Given the description of an element on the screen output the (x, y) to click on. 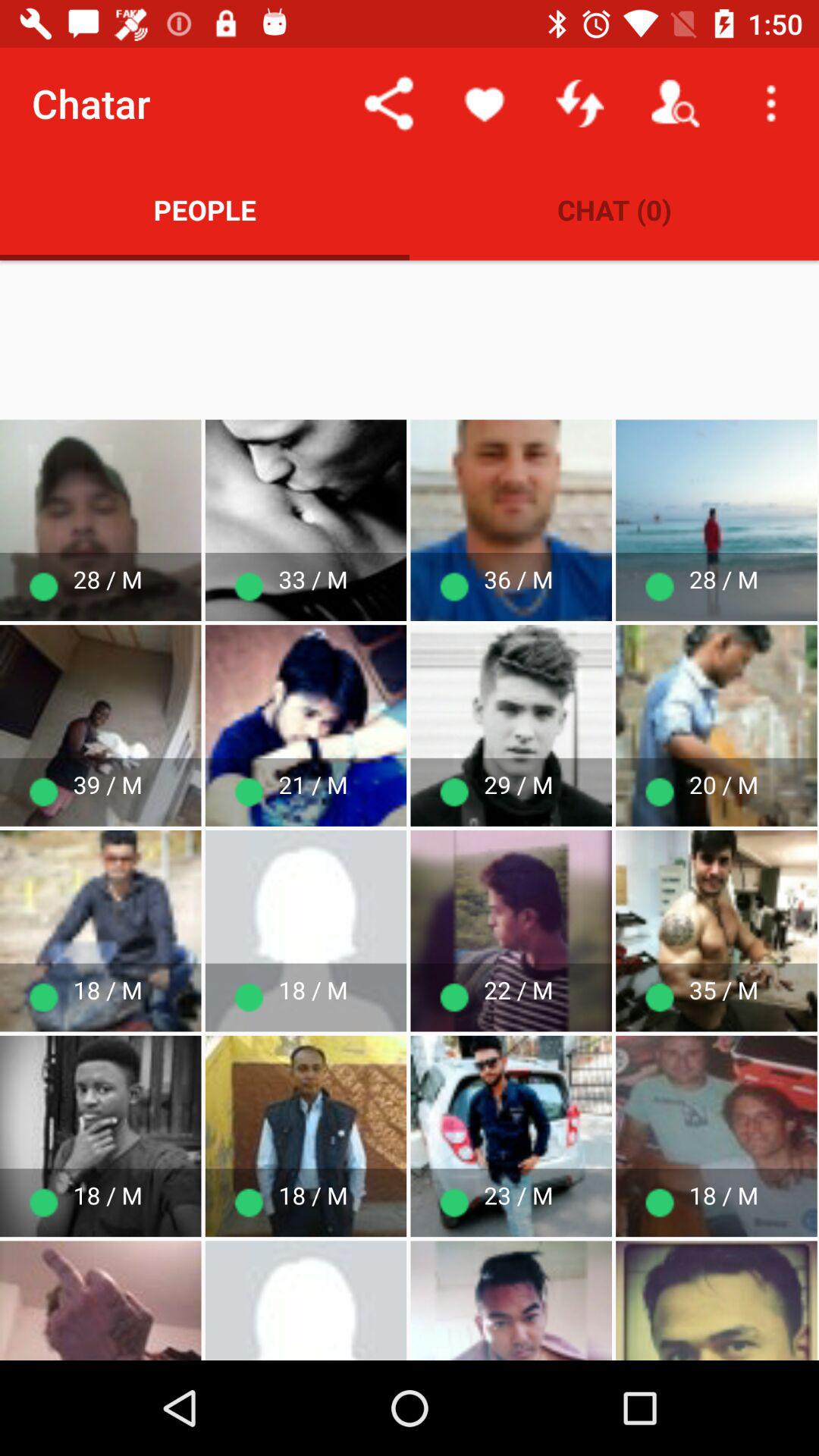
turn off chat (0) item (614, 209)
